Given the description of an element on the screen output the (x, y) to click on. 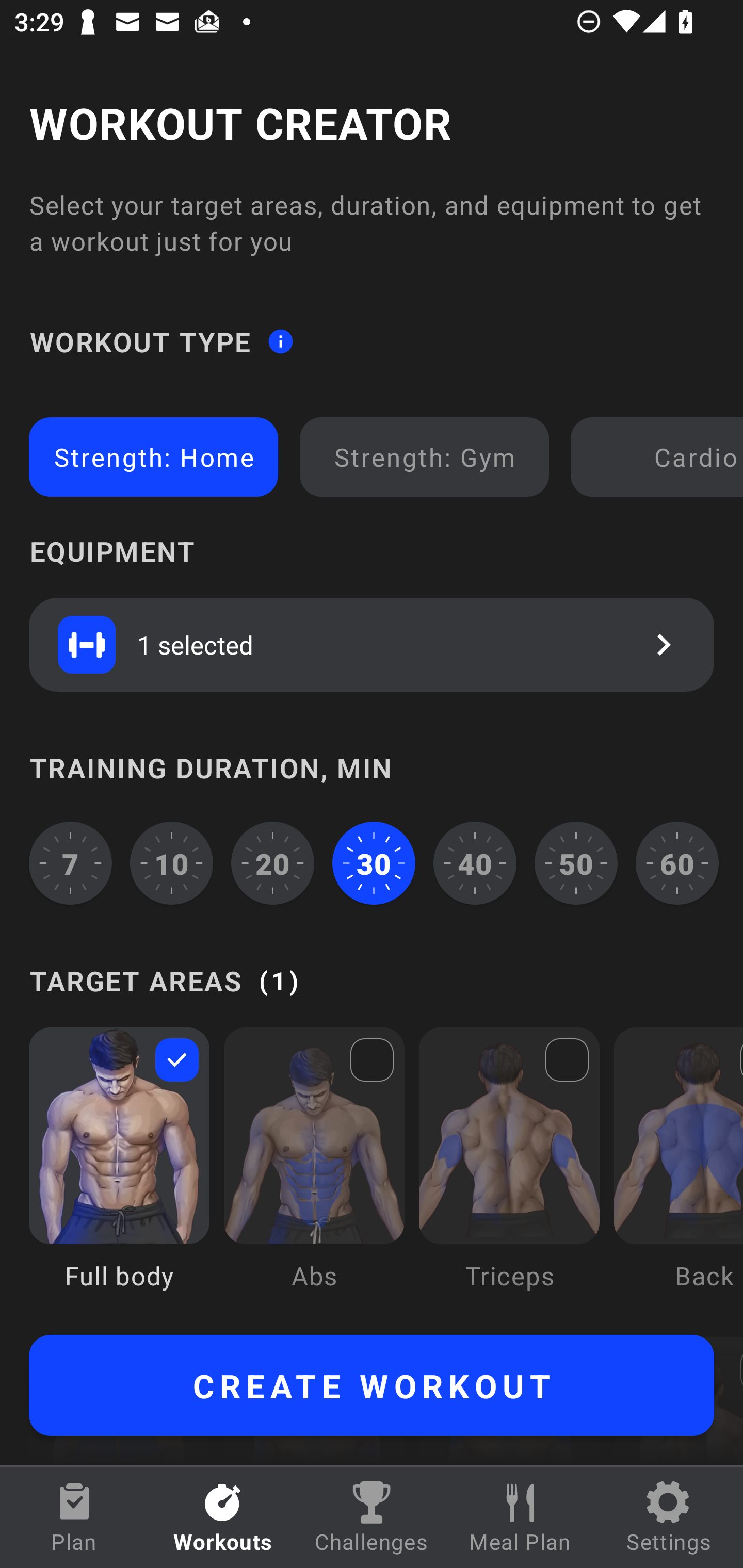
Workout type information button (280, 340)
Strength: Gym (423, 457)
Cardio (660, 457)
1 selected (371, 644)
7 (70, 862)
10 (171, 862)
20 (272, 862)
30 (373, 862)
40 (474, 862)
50 (575, 862)
60 (676, 862)
Abs (313, 1172)
Triceps (509, 1172)
Back (678, 1172)
CREATE WORKOUT (371, 1385)
 Plan  (74, 1517)
 Challenges  (371, 1517)
 Meal Plan  (519, 1517)
 Settings  (668, 1517)
